Given the description of an element on the screen output the (x, y) to click on. 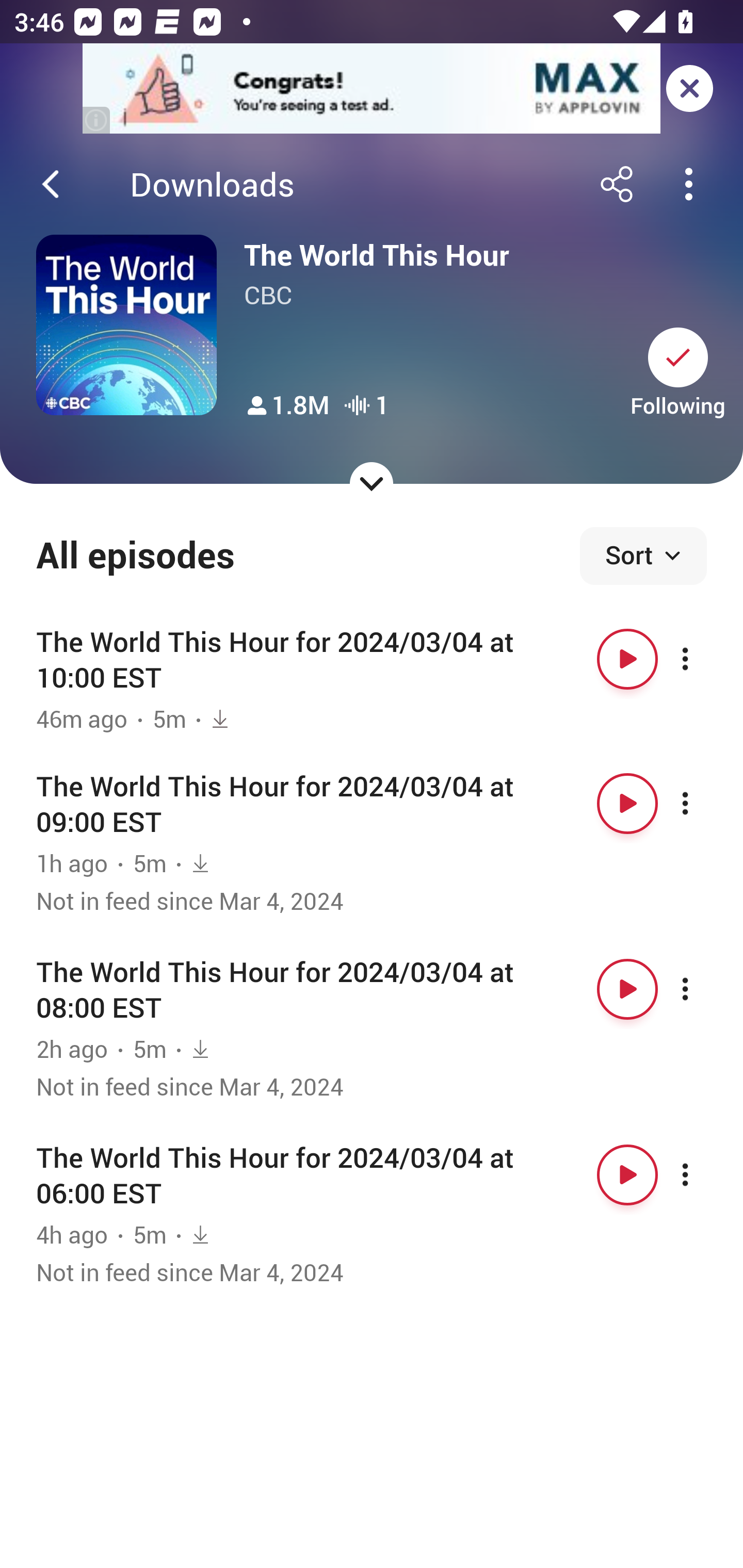
app-monetization (371, 88)
(i) (96, 119)
Back (50, 184)
Unsubscribe button (677, 357)
Sort episodes Sort (643, 555)
Play button (627, 659)
More options (703, 659)
Play button (627, 803)
More options (703, 803)
Play button (627, 989)
More options (703, 989)
Play button (627, 1175)
More options (703, 1175)
